Given the description of an element on the screen output the (x, y) to click on. 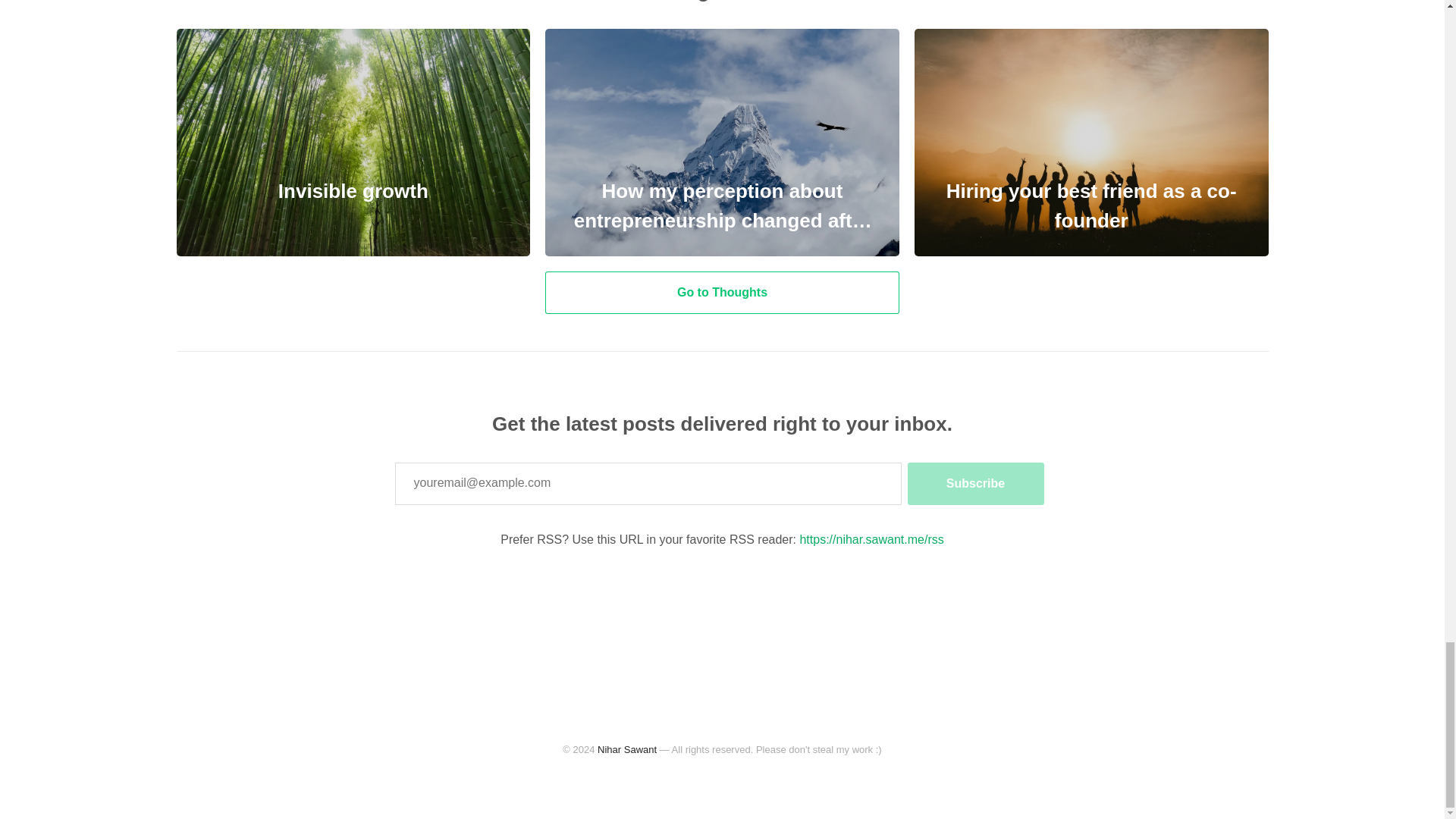
Nihar Sawant (626, 749)
Invisible growth (352, 143)
Subscribe (975, 483)
Go to Thoughts (721, 292)
Hiring your best friend as a co-founder (1091, 143)
Hiring your best friend as a co-founder (1091, 142)
Invisible growth (352, 142)
